Given the description of an element on the screen output the (x, y) to click on. 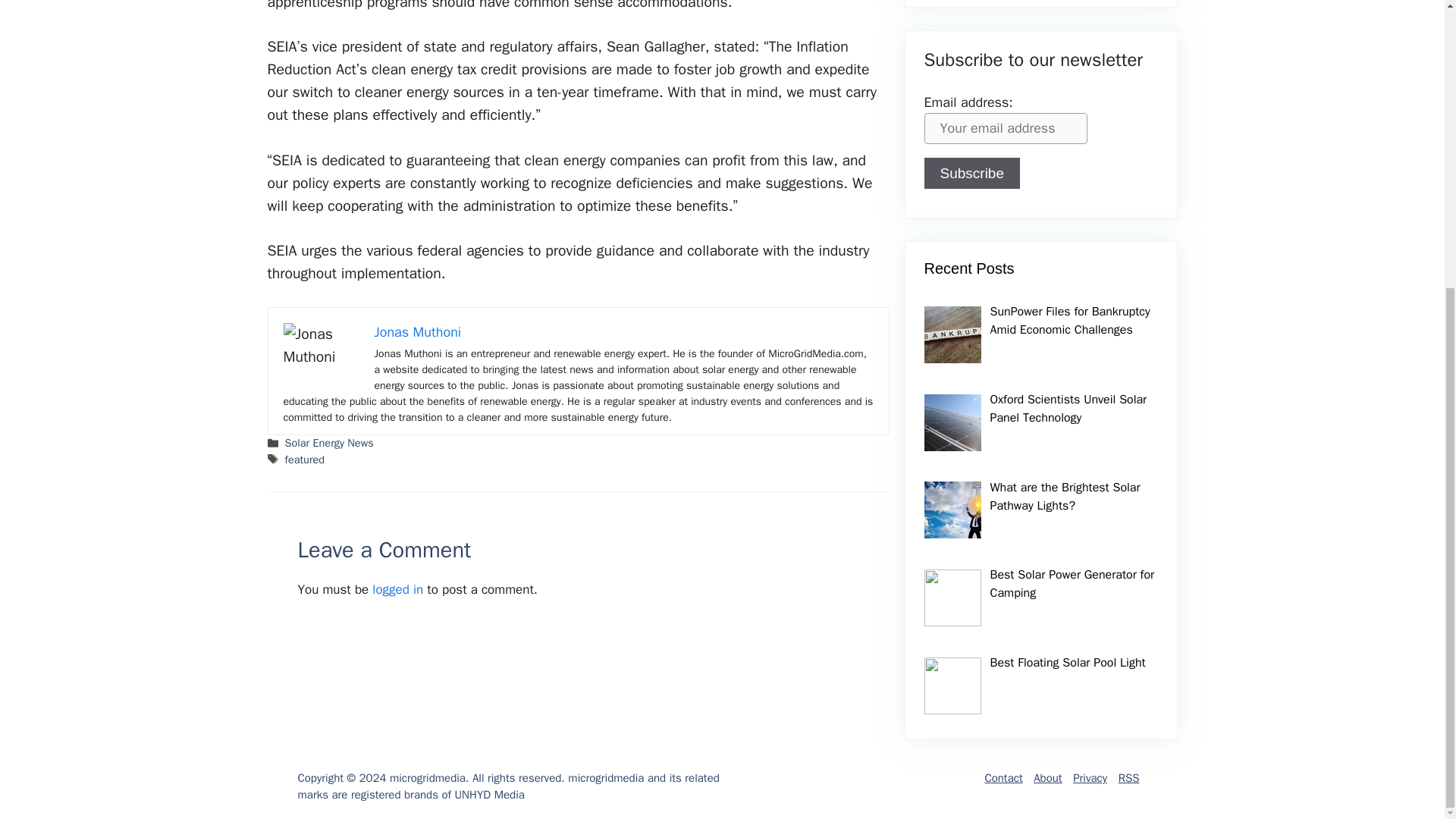
Solar Energy News (329, 442)
Subscribe (971, 173)
What are the Brightest Solar Pathway Lights? (1065, 496)
Contact (1003, 777)
featured (304, 459)
About (1047, 777)
UNHYD Media (489, 794)
Jonas Muthoni (417, 331)
Subscribe (971, 173)
Best Solar Power Generator for Camping (1072, 583)
